Given the description of an element on the screen output the (x, y) to click on. 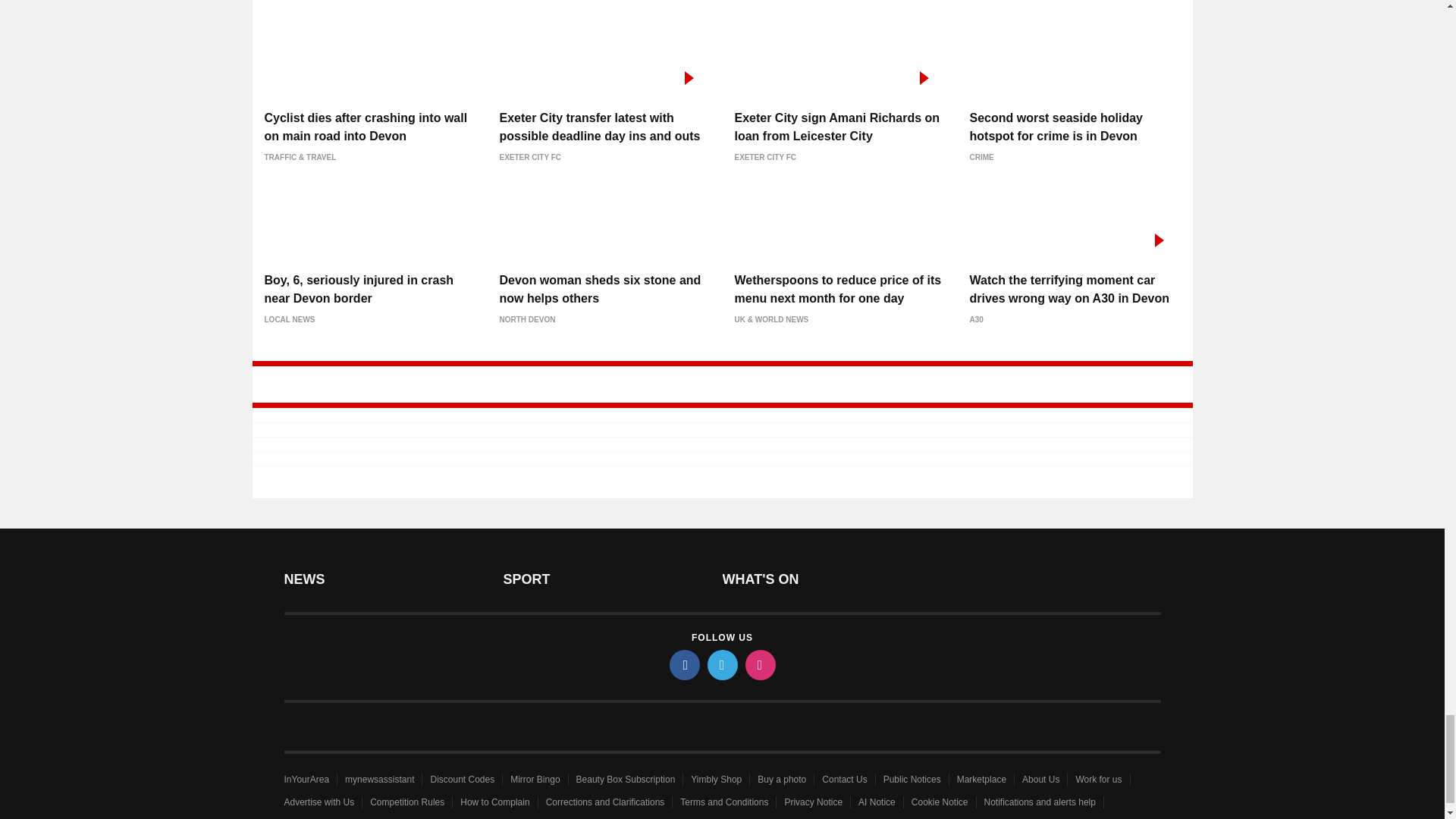
twitter (721, 665)
instagram (759, 665)
facebook (683, 665)
